Given the description of an element on the screen output the (x, y) to click on. 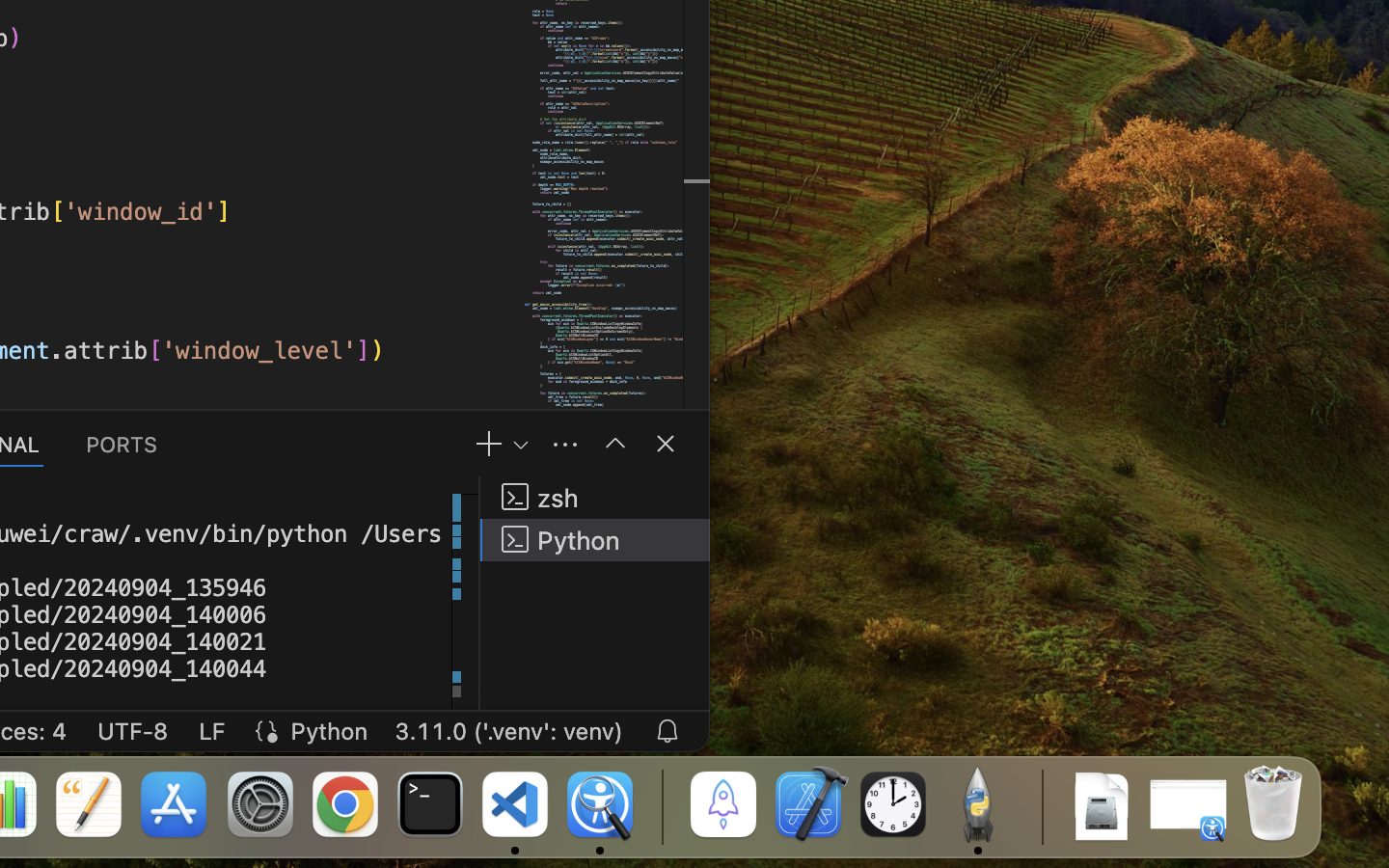
0.4285714328289032 Element type: AXDockItem (660, 805)
Python  Element type: AXGroup (594, 539)
 Element type: AXButton (665, 443)
 Element type: AXCheckBox (615, 443)
0 PORTS Element type: AXRadioButton (122, 443)
